Given the description of an element on the screen output the (x, y) to click on. 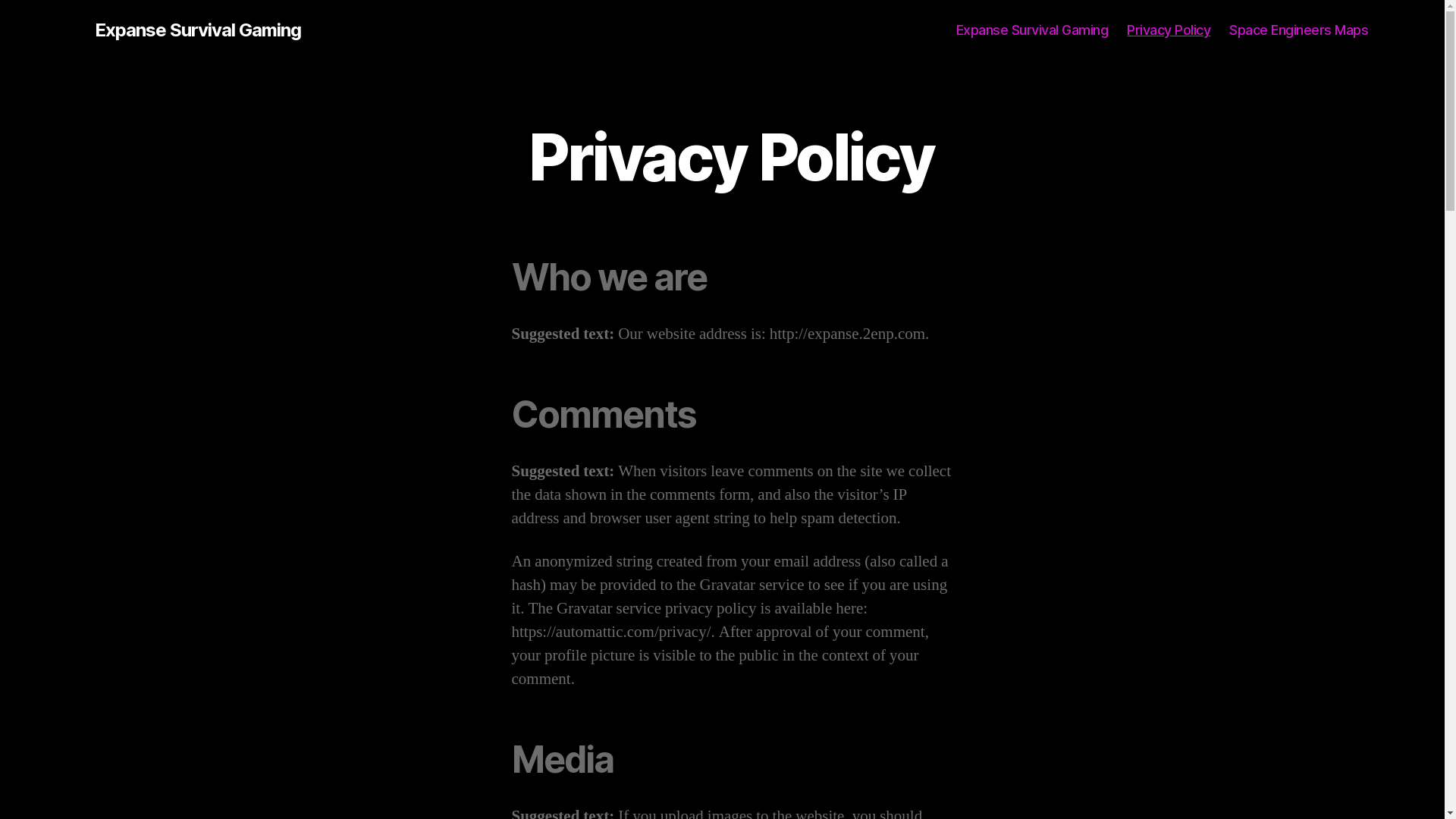
Expanse Survival Gaming Element type: text (1032, 29)
Space Engineers Maps Element type: text (1298, 29)
Expanse Survival Gaming Element type: text (197, 30)
Privacy Policy Element type: text (1168, 29)
